Given the description of an element on the screen output the (x, y) to click on. 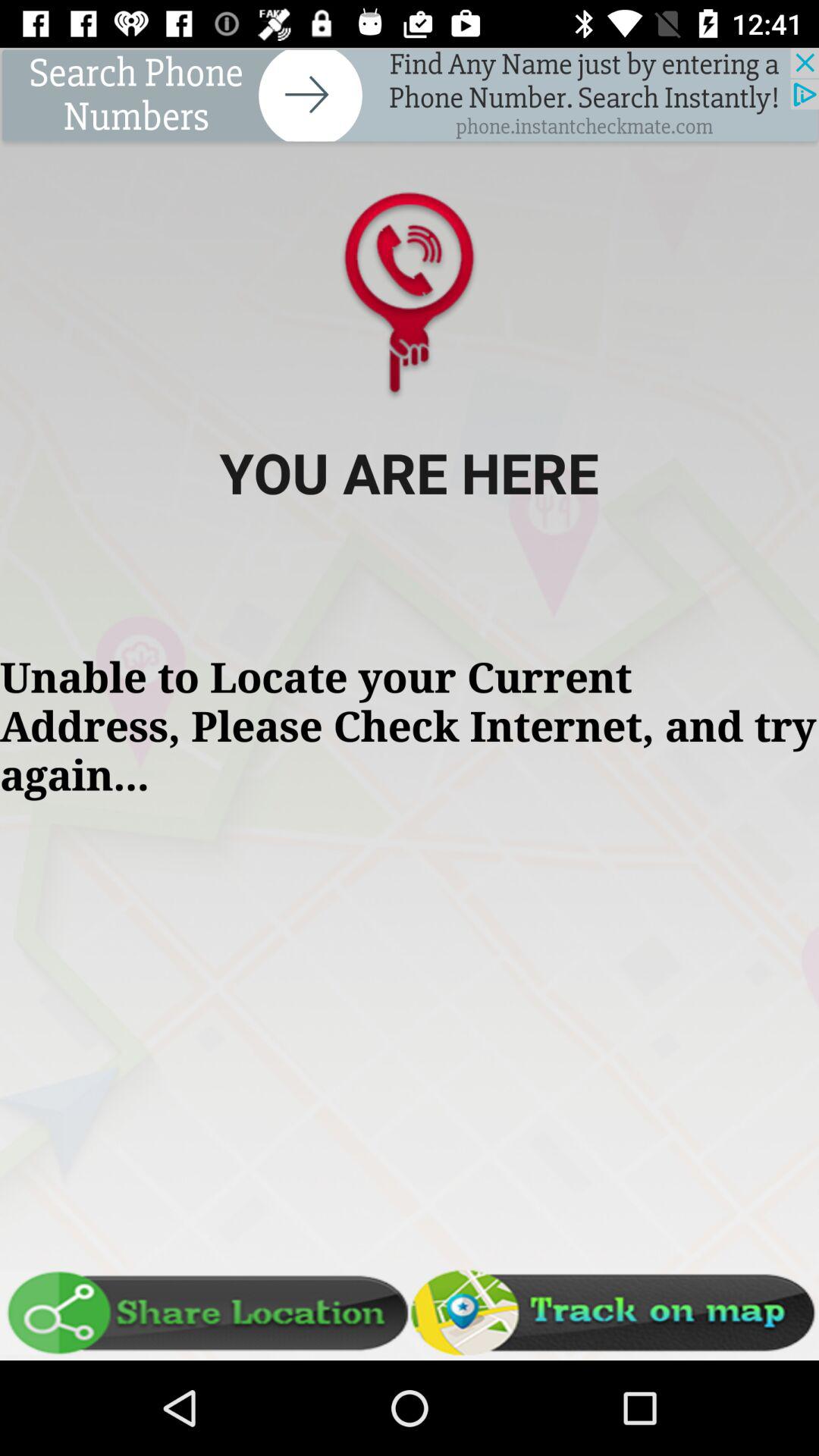
share location (204, 1312)
